Given the description of an element on the screen output the (x, y) to click on. 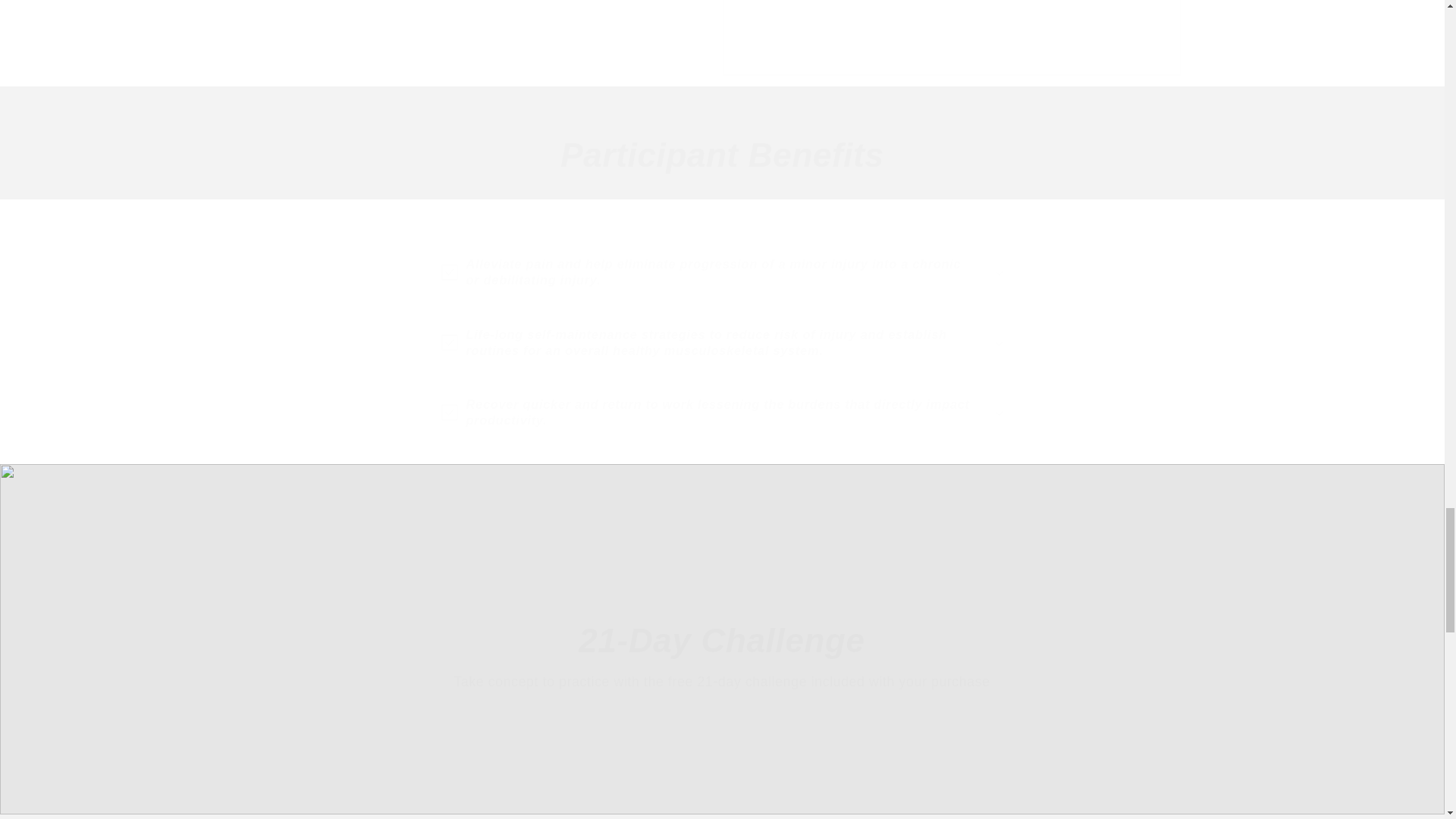
Participant Benefits (722, 154)
